Given the description of an element on the screen output the (x, y) to click on. 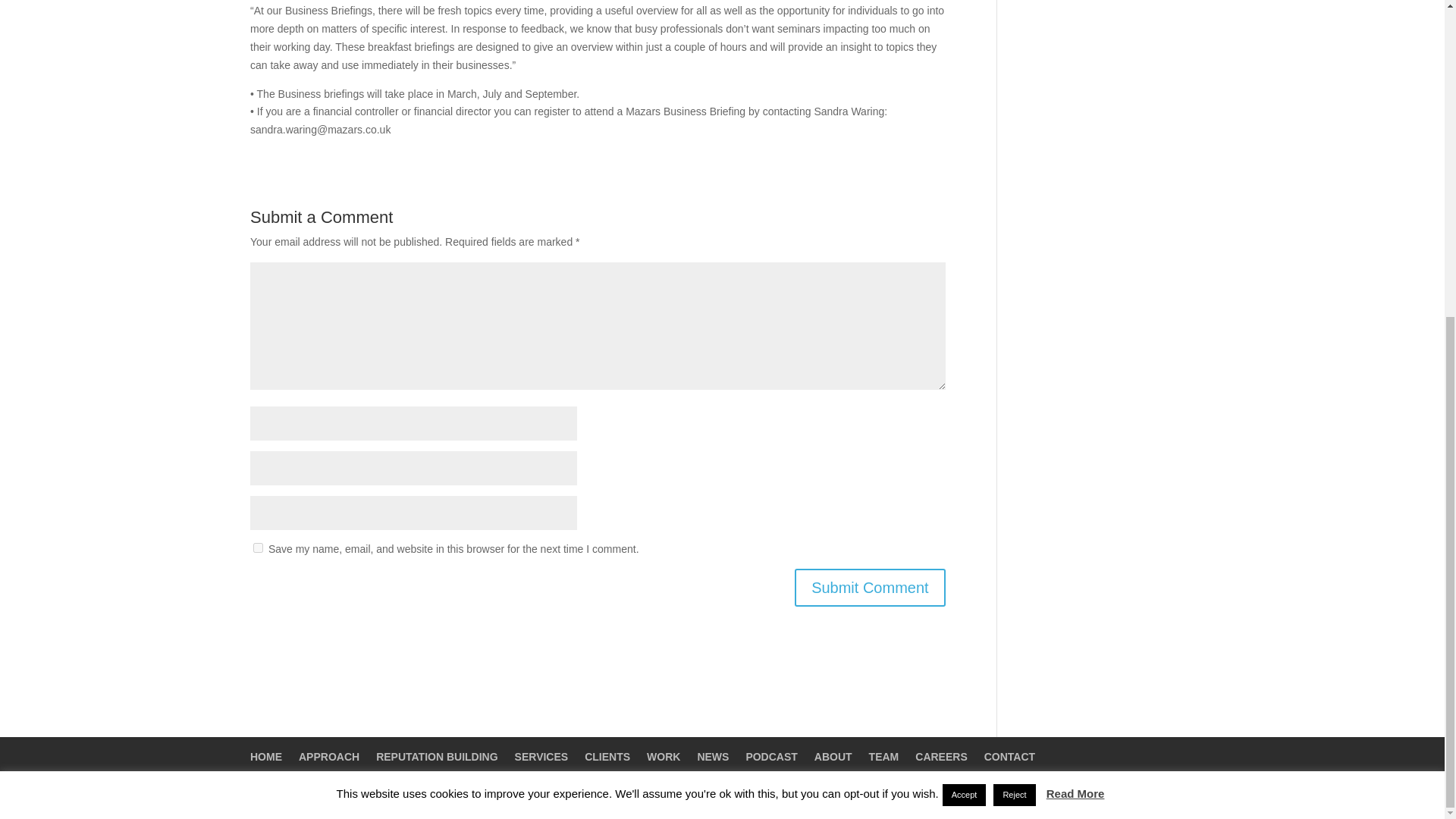
REPUTATION BUILDING (436, 756)
yes (258, 547)
APPROACH (328, 756)
Submit Comment (869, 587)
HOME (266, 756)
Submit Comment (869, 587)
SERVICES (542, 756)
WORK (662, 756)
CLIENTS (607, 756)
NEWS (713, 756)
